Given the description of an element on the screen output the (x, y) to click on. 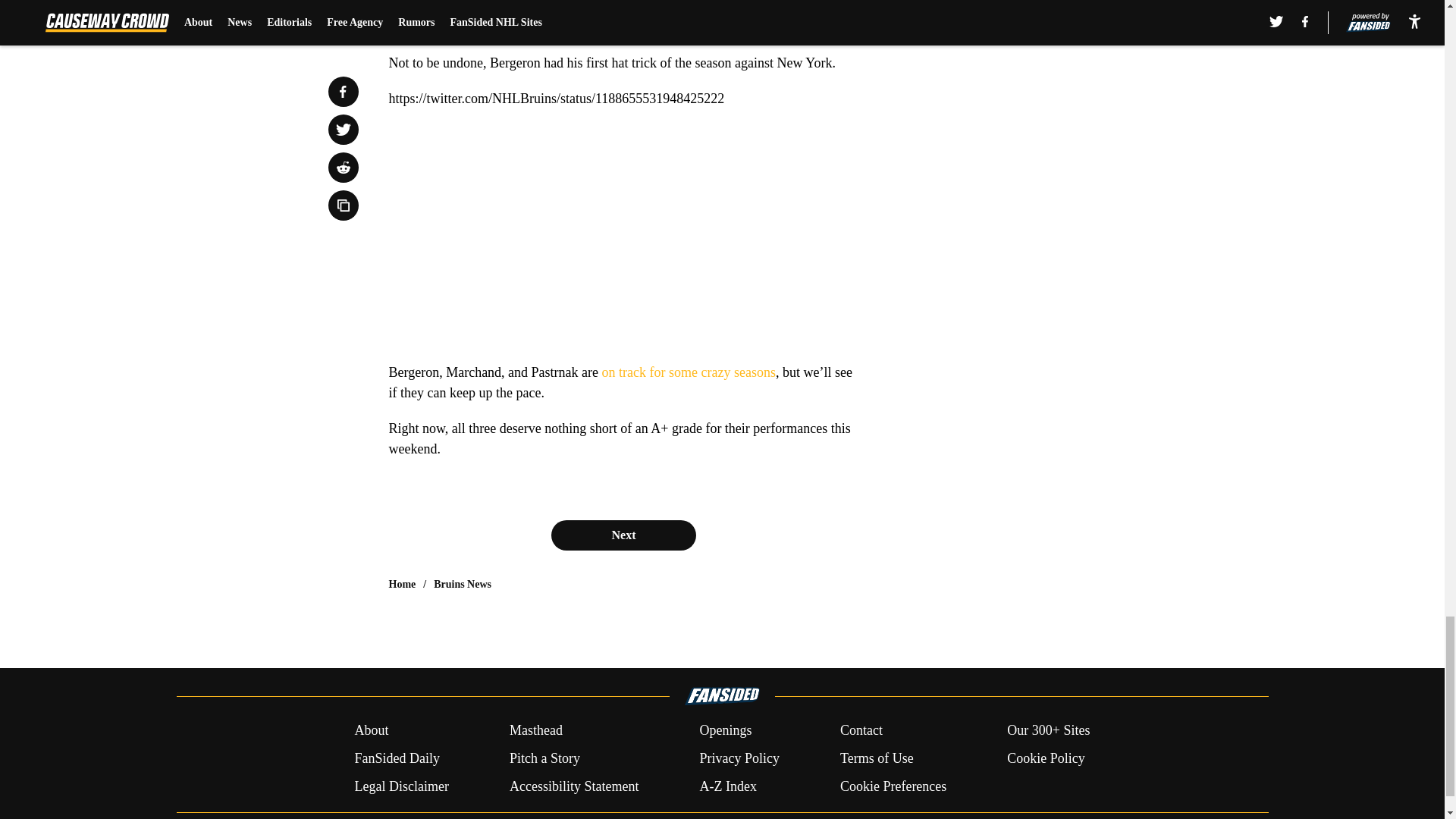
Bruins News (462, 584)
Contact (861, 730)
Next (622, 535)
About (370, 730)
Masthead (535, 730)
Openings (724, 730)
Pitch a Story (544, 758)
FanSided Daily (396, 758)
on track for some crazy seasons (689, 372)
Home (401, 584)
